Given the description of an element on the screen output the (x, y) to click on. 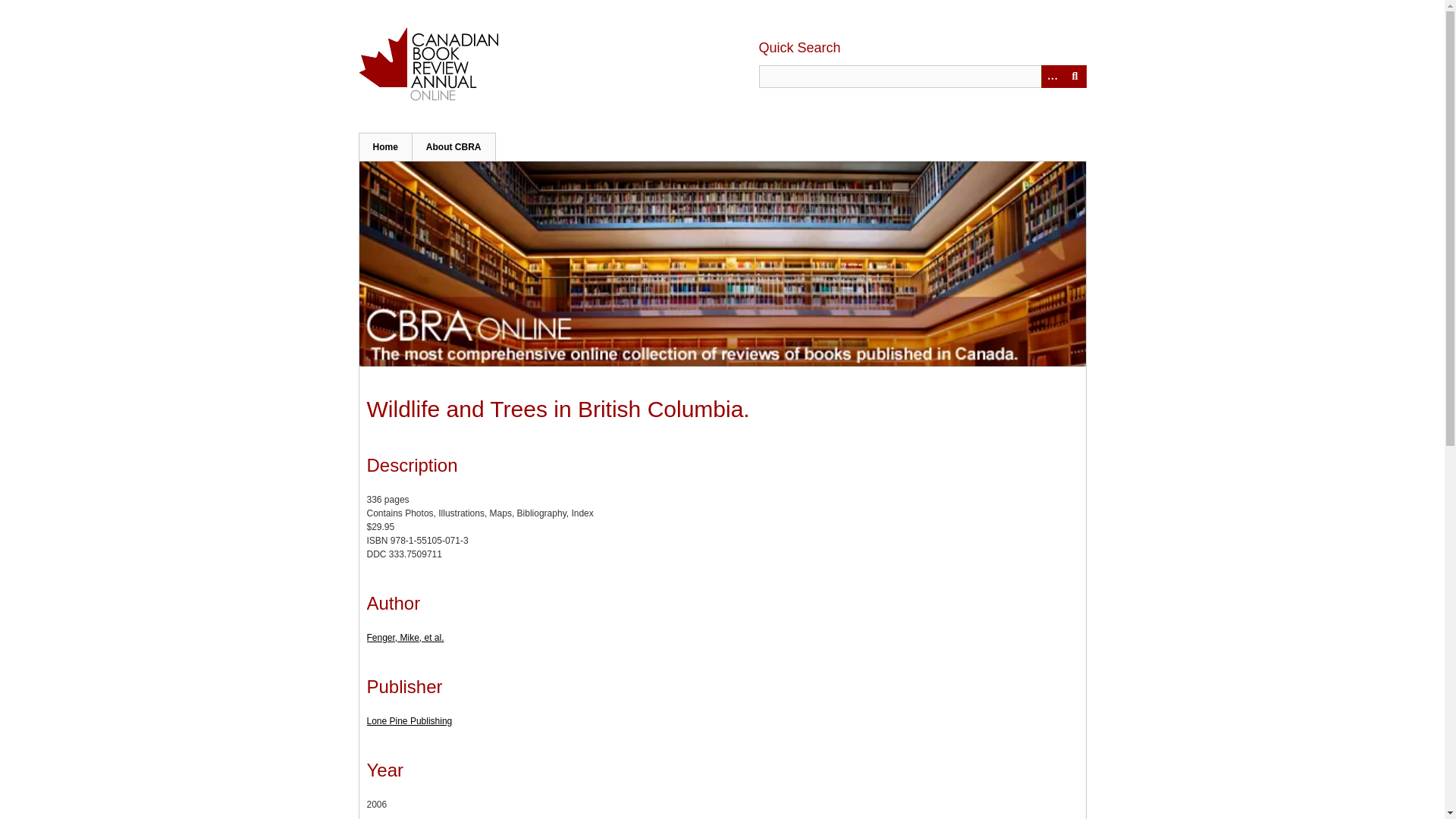
Options (1051, 76)
Home (385, 146)
Search (922, 76)
Fenger, Mike, et al. (405, 637)
Submit (1074, 76)
About CBRA (454, 146)
Lone Pine Publishing (409, 720)
